Given the description of an element on the screen output the (x, y) to click on. 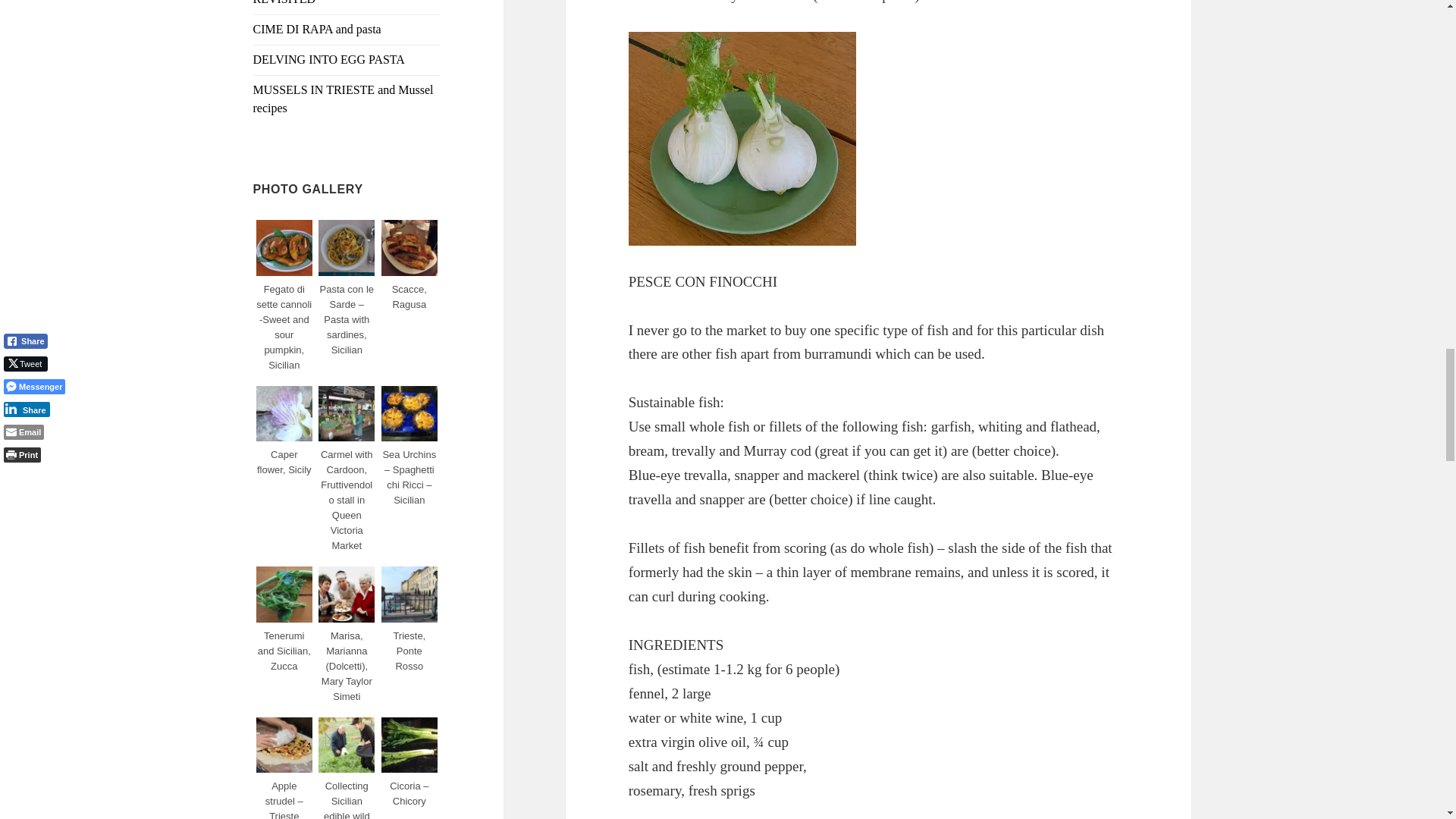
DELVING INTO EGG PASTA (328, 59)
MUSSELS IN TRIESTE and Mussel recipes (343, 98)
CIME DI RAPA and pasta (317, 29)
